Given the description of an element on the screen output the (x, y) to click on. 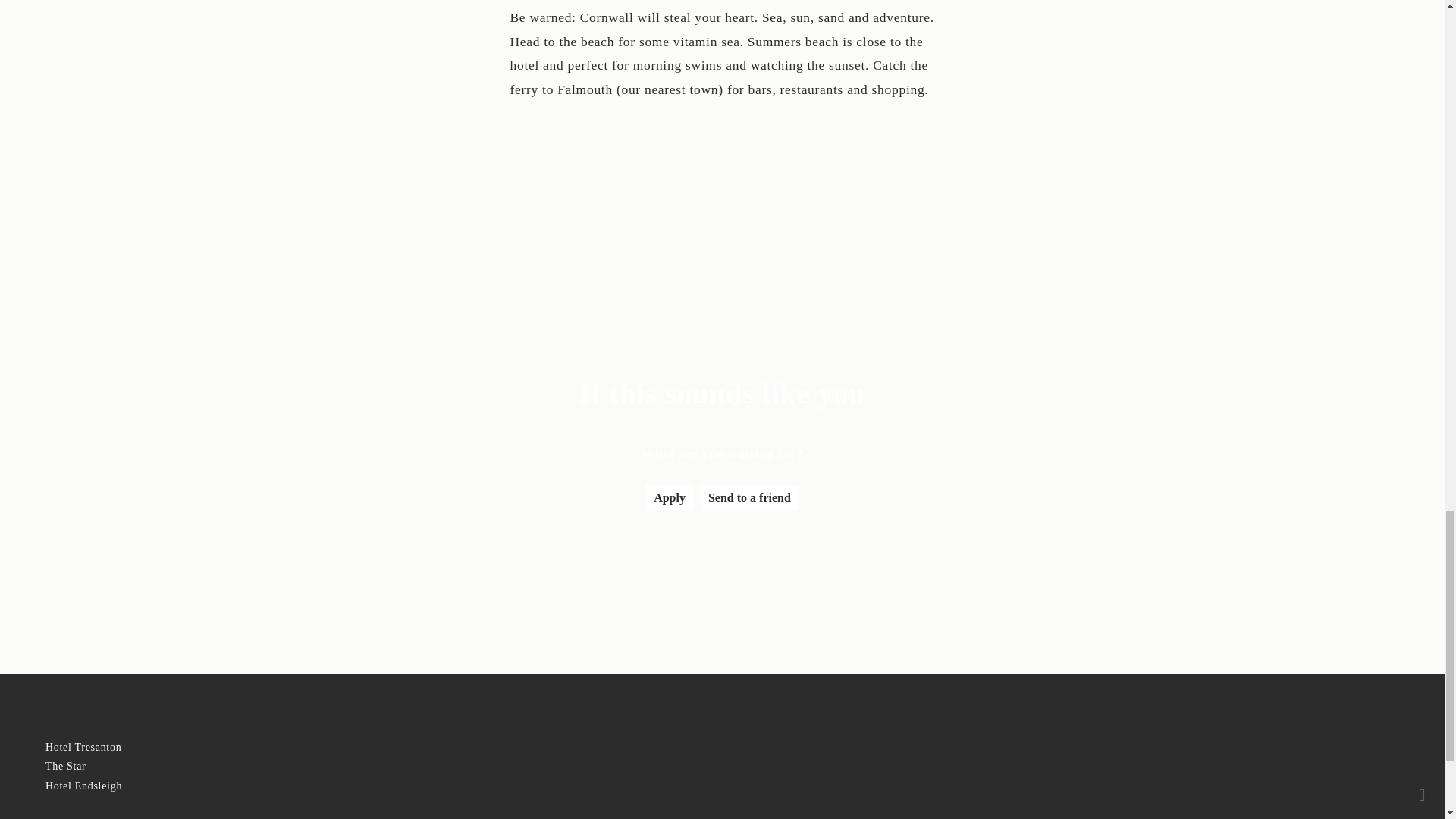
Apply (669, 498)
Hotel Endsleigh (83, 785)
Send to a friend (748, 498)
Hotel Tresanton (82, 747)
The Star (65, 766)
